Given the description of an element on the screen output the (x, y) to click on. 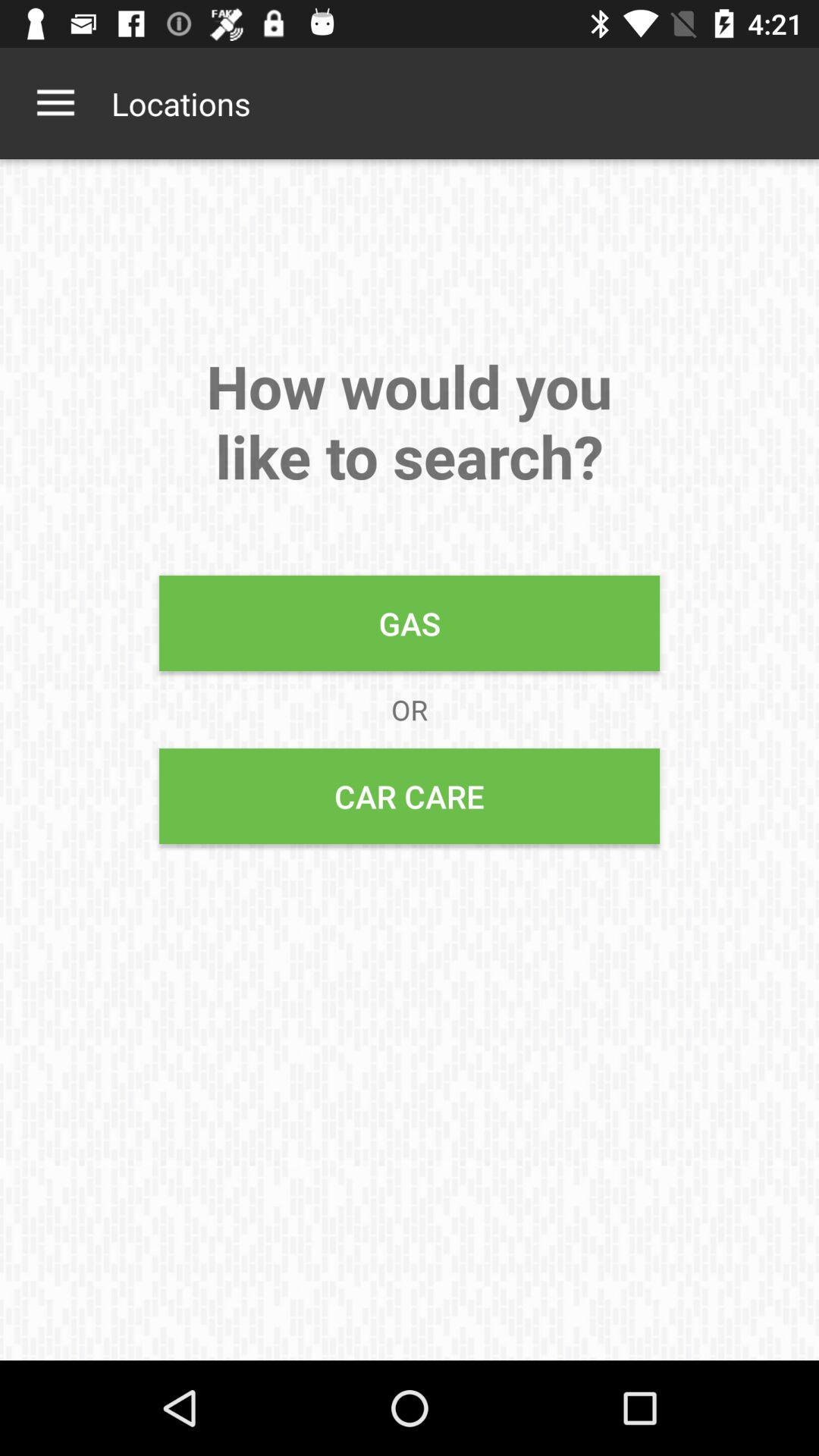
launch item above how would you item (55, 103)
